Given the description of an element on the screen output the (x, y) to click on. 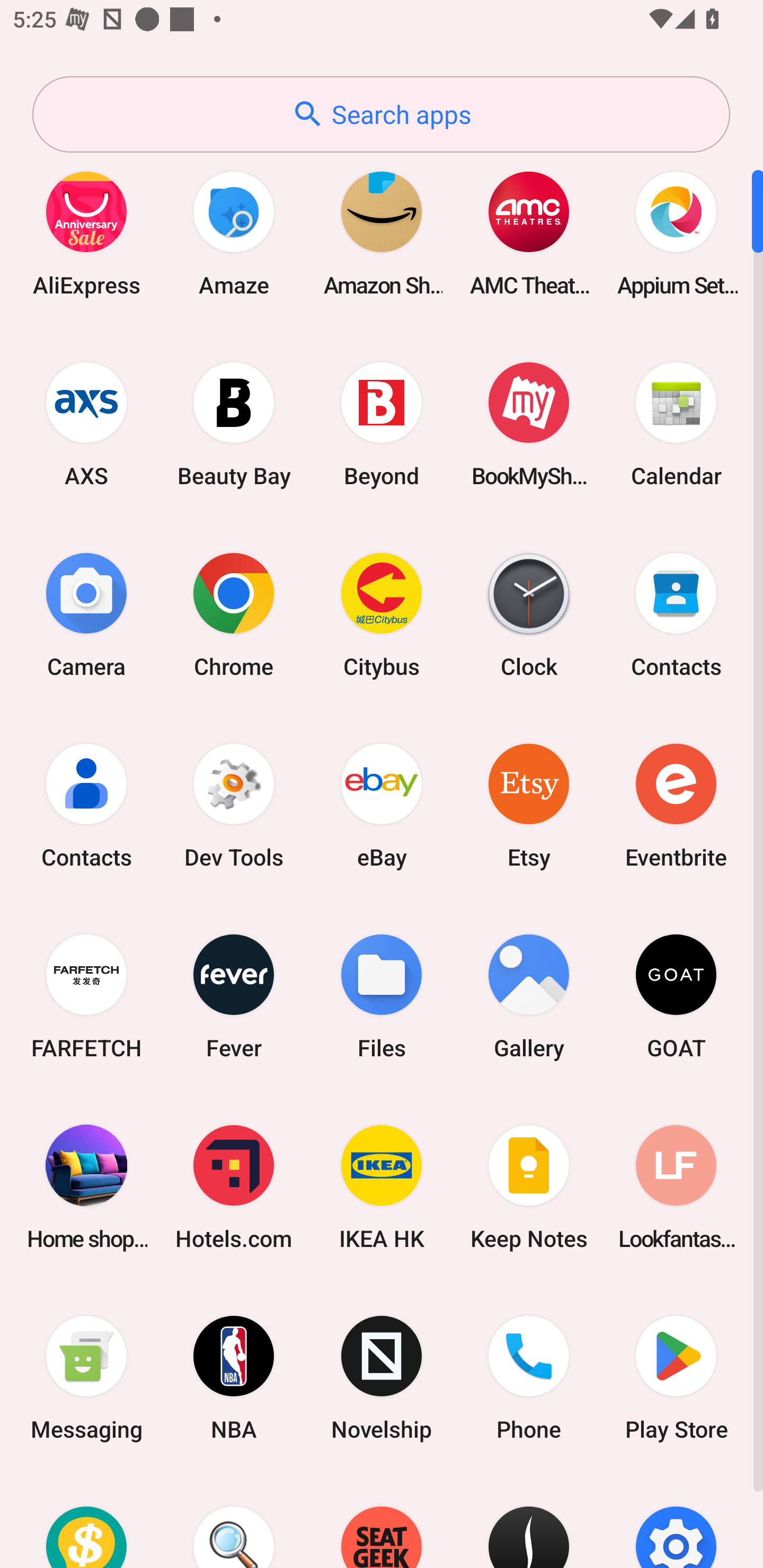
  Search apps (381, 114)
AliExpress (86, 233)
Amaze (233, 233)
Amazon Shopping (381, 233)
AMC Theatres (528, 233)
Appium Settings (676, 233)
AXS (86, 424)
Beauty Bay (233, 424)
Beyond (381, 424)
BookMyShow (528, 424)
Calendar (676, 424)
Camera (86, 614)
Chrome (233, 614)
Citybus (381, 614)
Clock (528, 614)
Contacts (676, 614)
Contacts (86, 805)
Dev Tools (233, 805)
eBay (381, 805)
Etsy (528, 805)
Eventbrite (676, 805)
FARFETCH (86, 996)
Fever (233, 996)
Files (381, 996)
Gallery (528, 996)
GOAT (676, 996)
Home shopping (86, 1186)
Hotels.com (233, 1186)
IKEA HK (381, 1186)
Keep Notes (528, 1186)
Lookfantastic (676, 1186)
Messaging (86, 1377)
NBA (233, 1377)
Novelship (381, 1377)
Phone (528, 1377)
Play Store (676, 1377)
Price (86, 1520)
Search (233, 1520)
SeatGeek (381, 1520)
Sephora (528, 1520)
Settings (676, 1520)
